Given the description of an element on the screen output the (x, y) to click on. 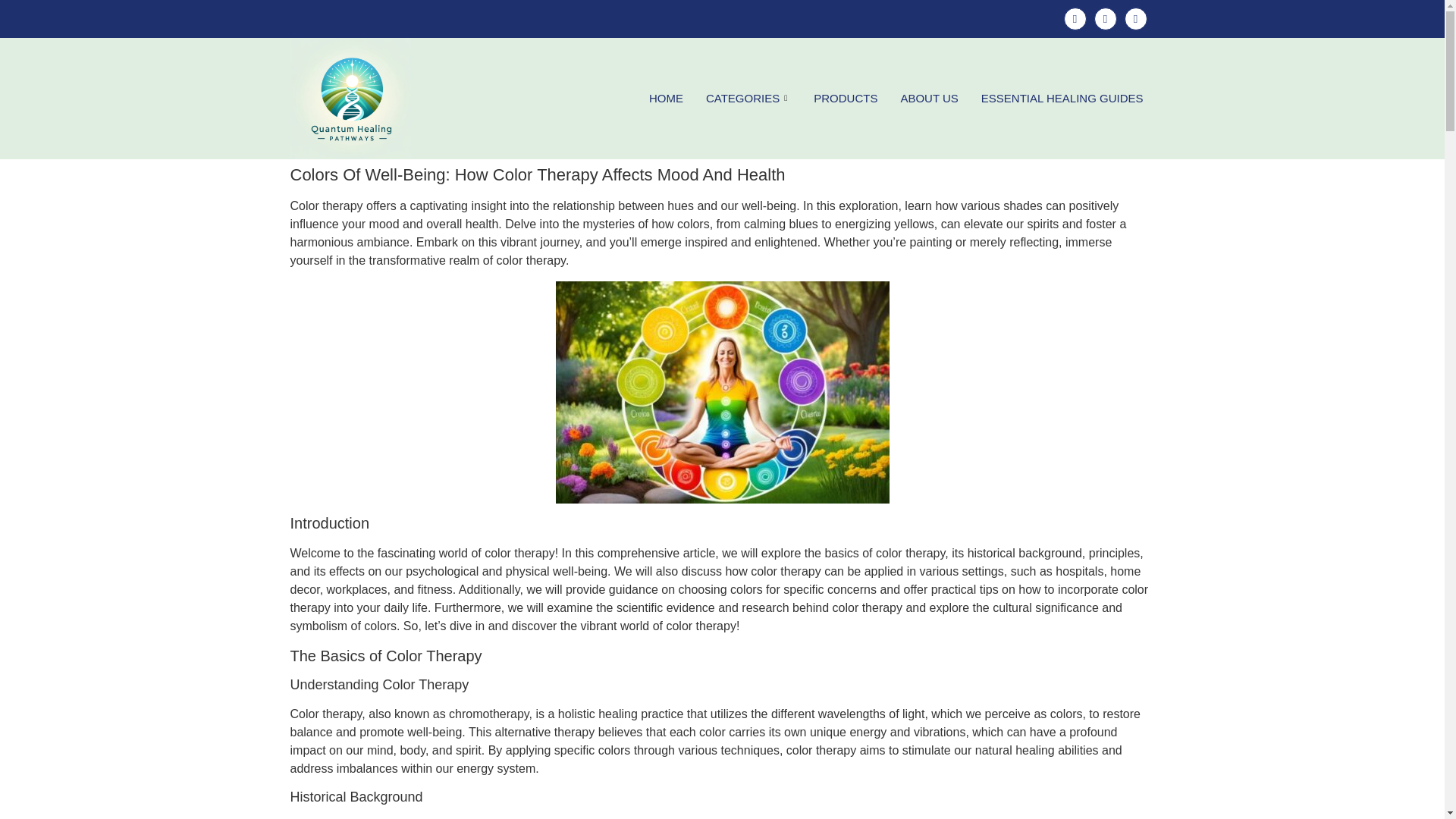
ESSENTIAL HEALING GUIDES (1061, 97)
CATEGORIES (748, 97)
HOME (665, 97)
ABOUT US (928, 97)
PRODUCTS (845, 97)
